Given the description of an element on the screen output the (x, y) to click on. 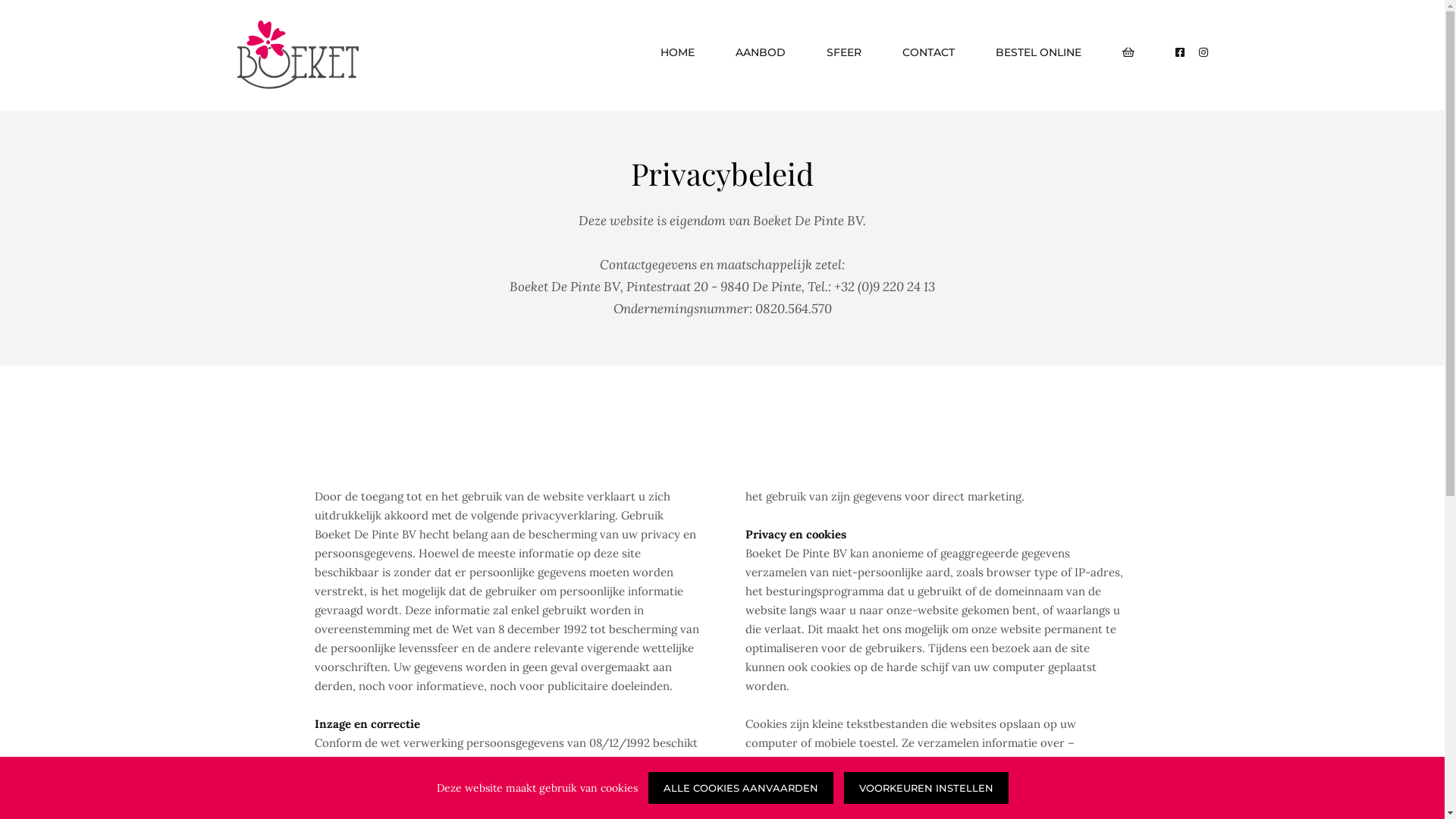
AANBOD Element type: text (760, 48)
BESTEL ONLINE Element type: text (1037, 48)
VOORKEUREN INSTELLEN Element type: text (925, 787)
SFEER Element type: text (843, 48)
HOME Element type: text (676, 48)
ALLE COOKIES AANVAARDEN Element type: text (739, 787)
CONTACT Element type: text (928, 48)
